Given the description of an element on the screen output the (x, y) to click on. 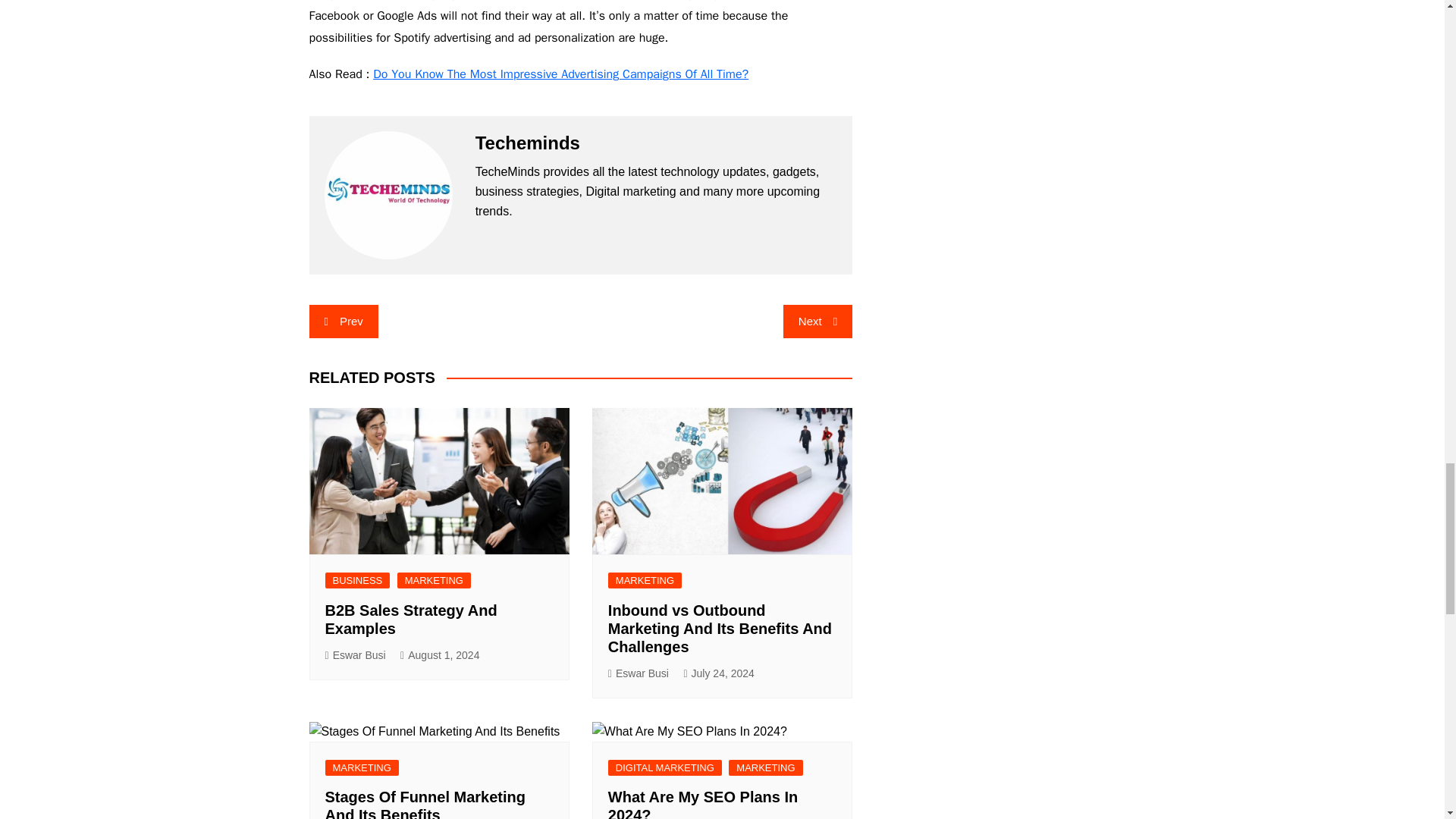
Prev (343, 321)
Next (817, 321)
